Given the description of an element on the screen output the (x, y) to click on. 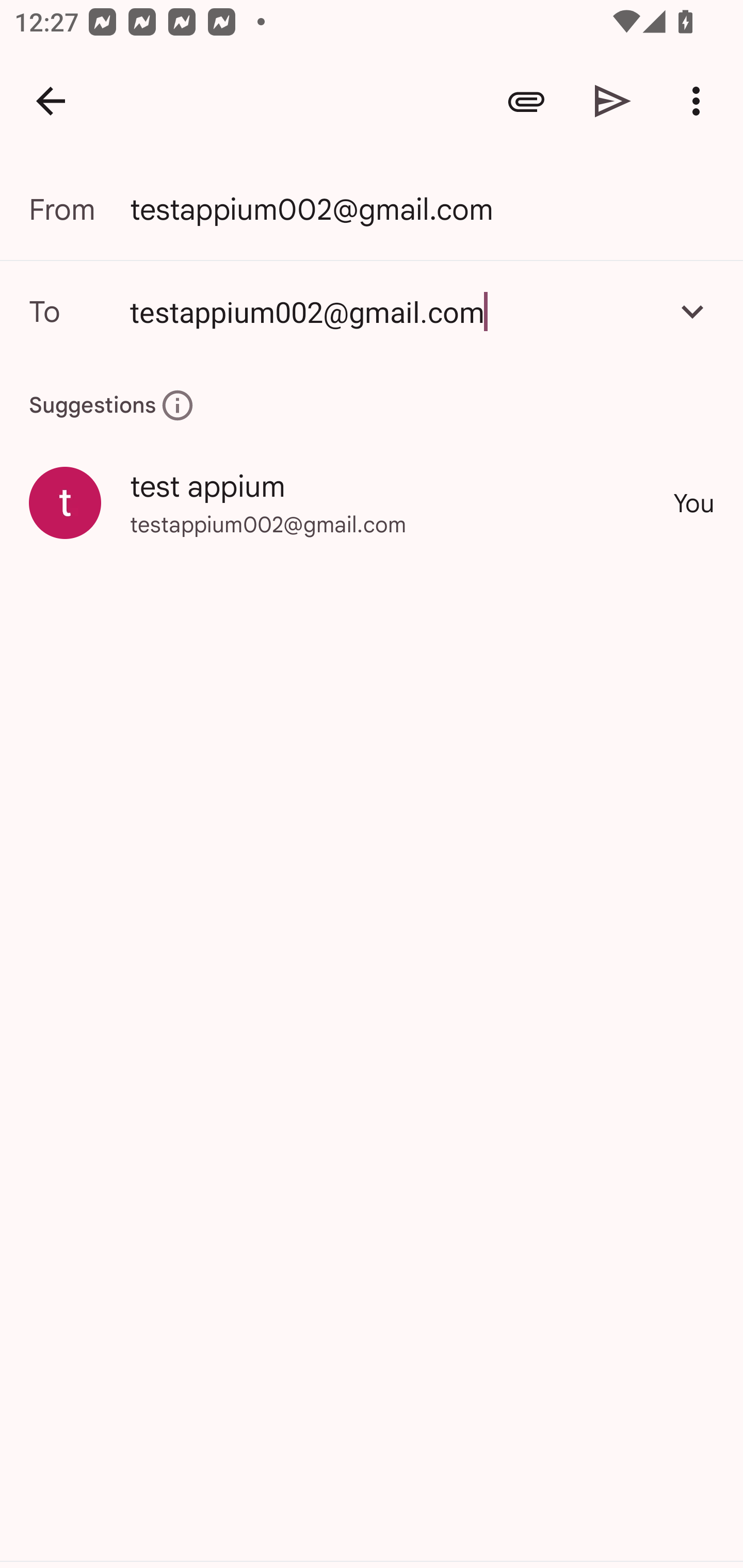
Navigate up (50, 101)
Attach file (525, 101)
Send (612, 101)
More options (699, 101)
From (79, 209)
Add Cc/Bcc (692, 311)
testappium002@gmail.com (371, 311)
testappium002@gmail.com (393, 311)
